Given the description of an element on the screen output the (x, y) to click on. 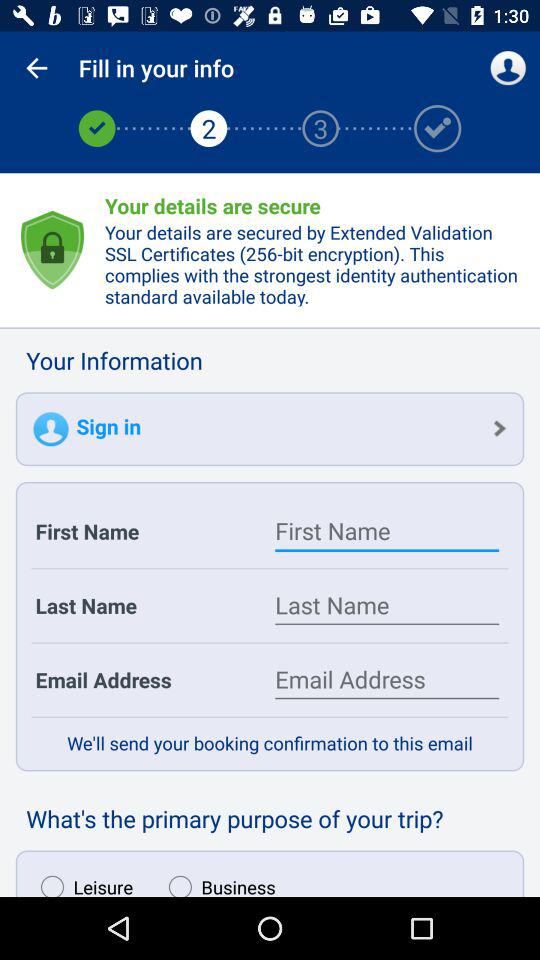
launch icon to the left of business item (82, 881)
